Given the description of an element on the screen output the (x, y) to click on. 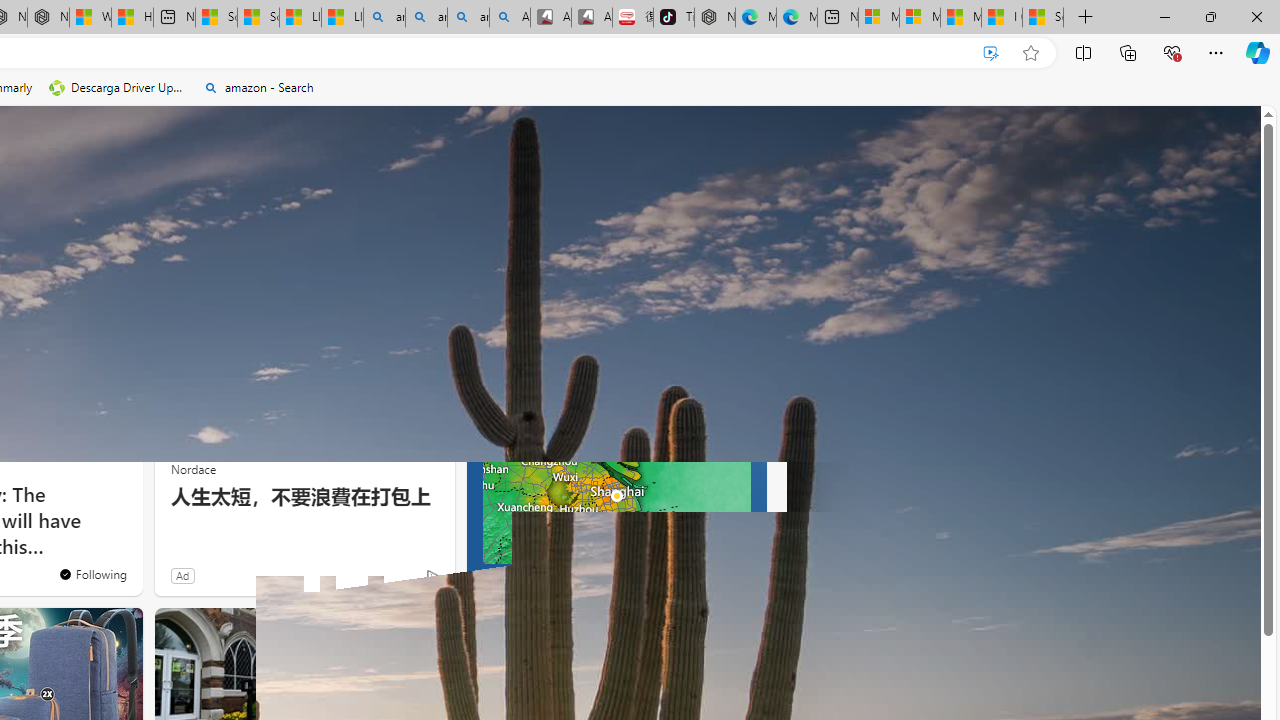
TikTok (673, 17)
Add a site (332, 223)
Partly sunny (504, 368)
Ad (182, 575)
tab-2 (511, 579)
More AQ info nearby (616, 547)
amazon - Search (258, 88)
Copilot (Ctrl+Shift+.) (1258, 52)
Traffic (155, 265)
Microsoft Start (960, 17)
Travel (95, 267)
